Given the description of an element on the screen output the (x, y) to click on. 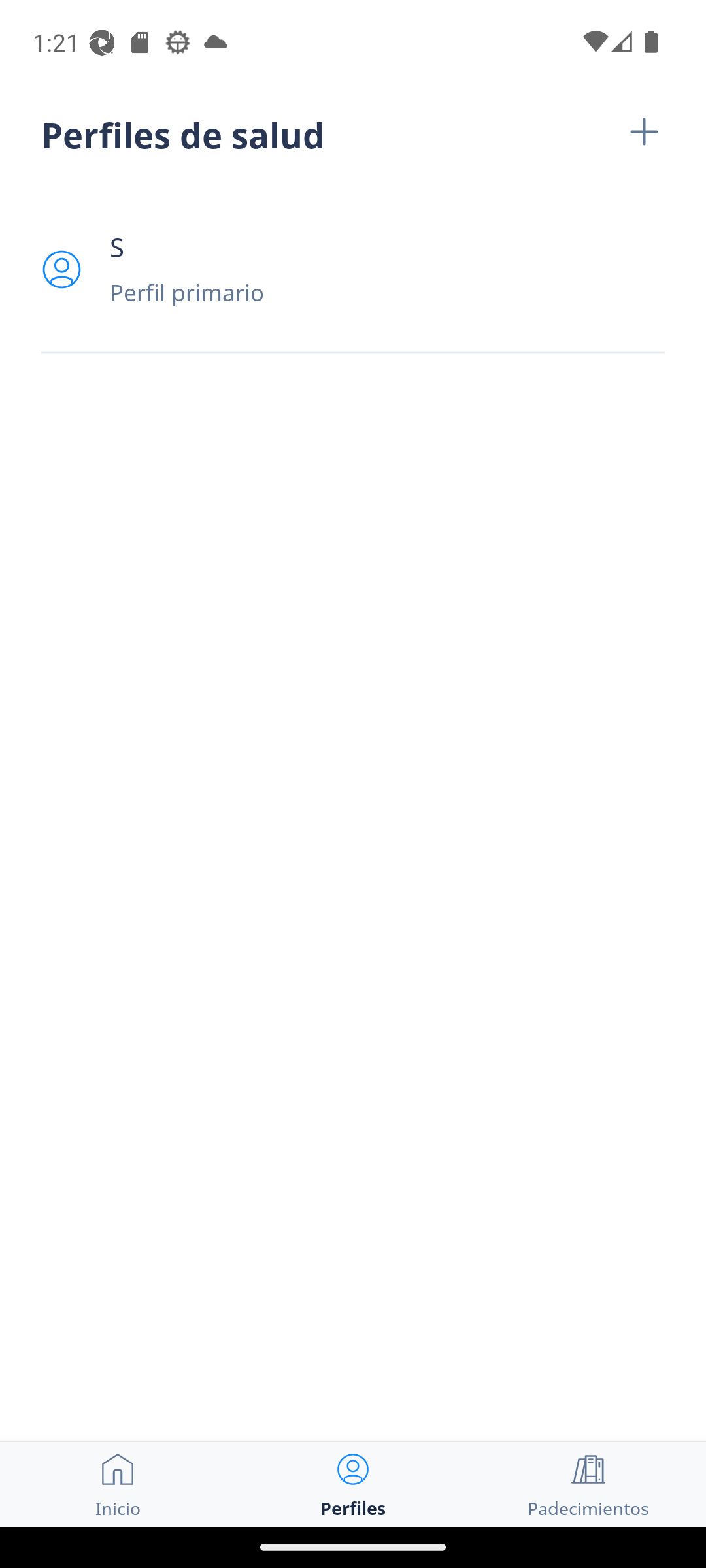
S Perfil primario (352, 269)
Inicio (117, 1484)
Perfiles (352, 1484)
Padecimientos (588, 1484)
